Given the description of an element on the screen output the (x, y) to click on. 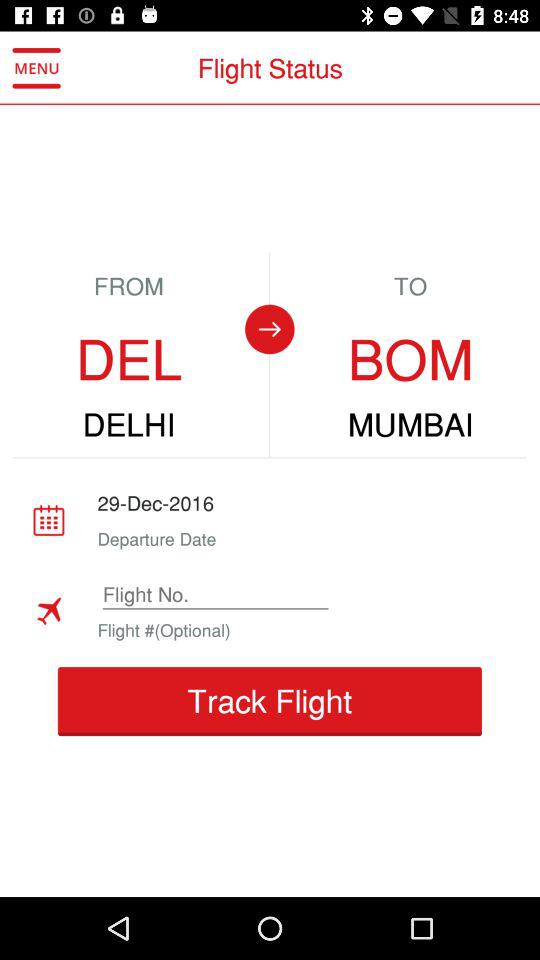
reverse options (269, 329)
